Given the description of an element on the screen output the (x, y) to click on. 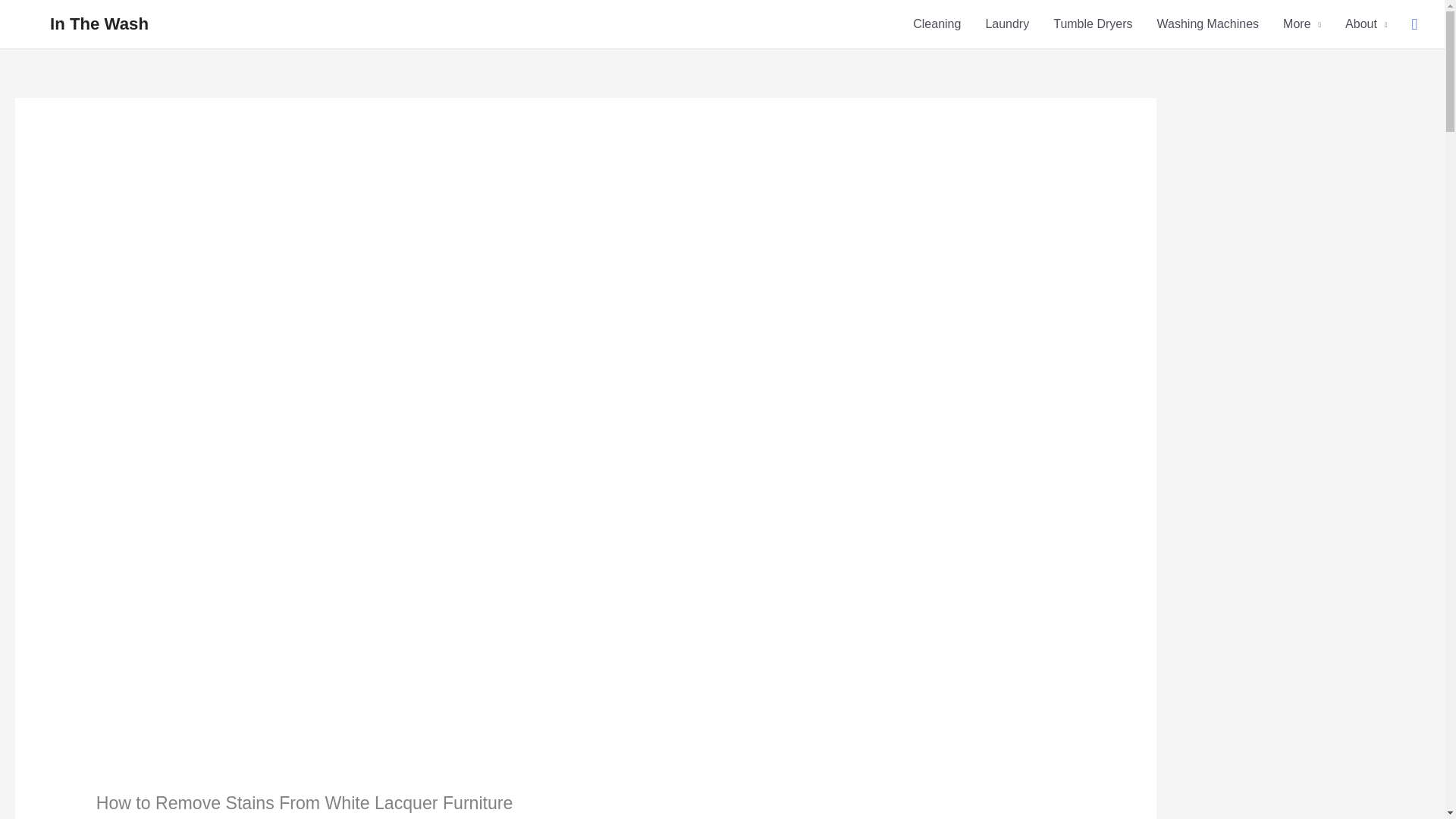
Cleaning (936, 24)
Laundry (1006, 24)
About (1366, 24)
Tumble Dryers (1092, 24)
In The Wash (98, 23)
More (1302, 24)
Washing Machines (1207, 24)
